Given the description of an element on the screen output the (x, y) to click on. 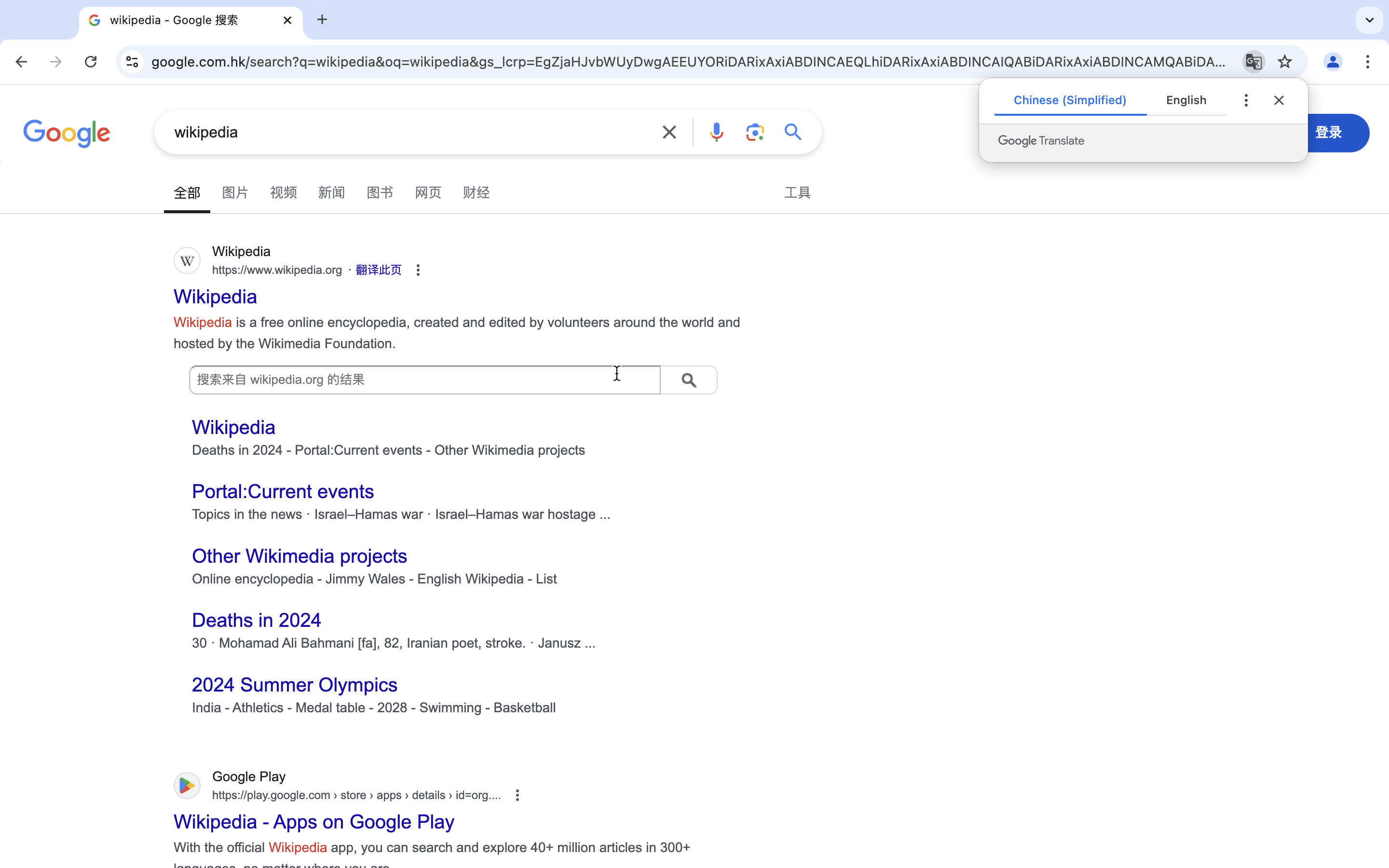
False Element type: AXRadioButton (1186, 99)
wikipedia Element type: AXTextArea (410, 131)
登录 Element type: AXStaticText (1328, 131)
True Element type: AXRadioButton (190, 20)
